Given the description of an element on the screen output the (x, y) to click on. 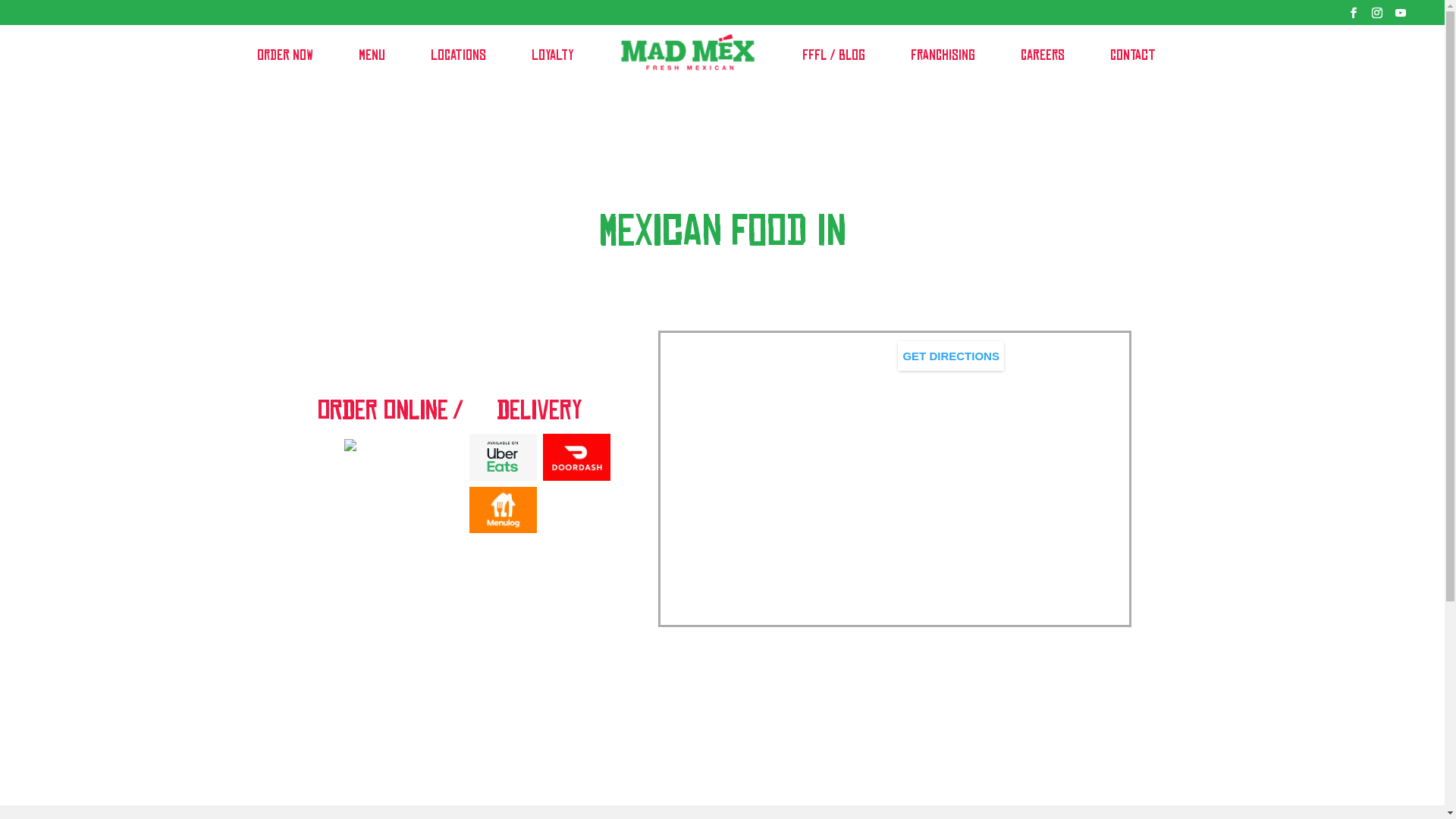
Careers Element type: text (1042, 55)
FFFL / Blog Element type: text (833, 55)
Menu Element type: text (371, 55)
Franchising Element type: text (942, 55)
Contact Element type: text (1132, 55)
GET DIRECTIONS Element type: text (950, 355)
Locations Element type: text (458, 55)
Loyalty Element type: text (552, 55)
Order Now Element type: text (284, 55)
